Given the description of an element on the screen output the (x, y) to click on. 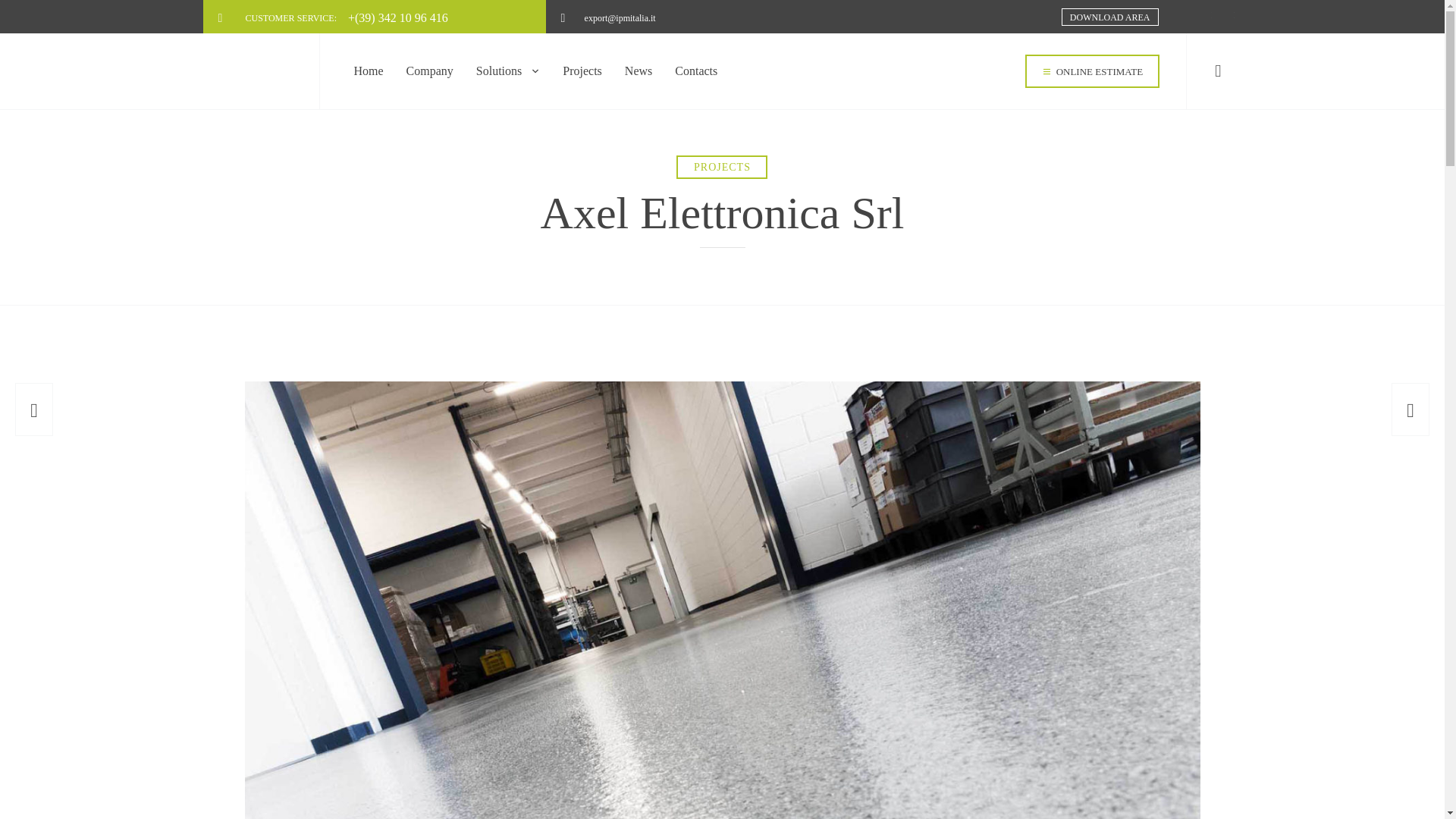
DOWNLOAD AREA (1109, 16)
Company (429, 70)
IPM Italia Pavimenti e Rivestimenti in Resina (257, 71)
ONLINE ESTIMATE (1091, 70)
Italiano (1203, 17)
Solutions (507, 70)
English (1227, 17)
